Given the description of an element on the screen output the (x, y) to click on. 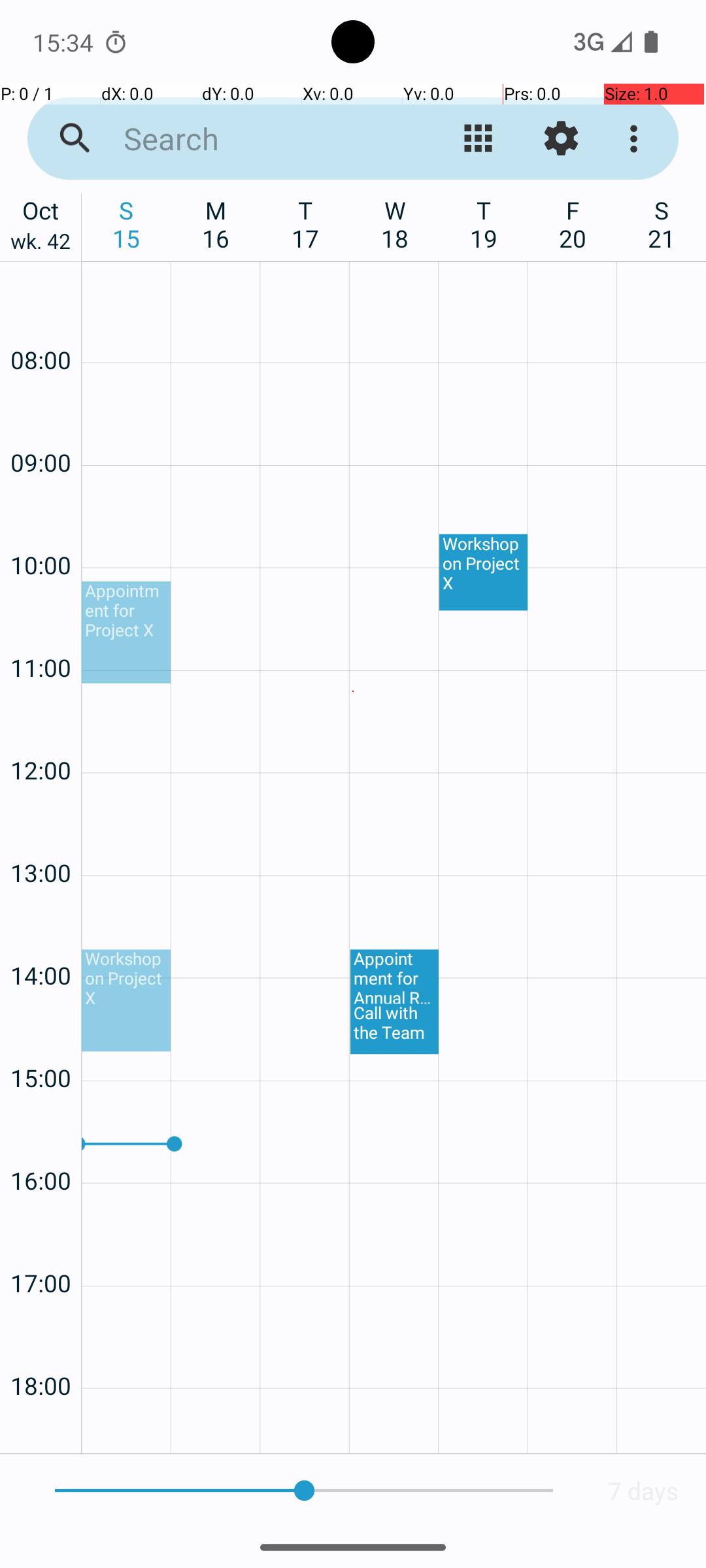
wk. 42 Element type: android.widget.TextView (40, 243)
M
16 Element type: android.widget.TextView (215, 223)
T
17 Element type: android.widget.TextView (305, 223)
W
18 Element type: android.widget.TextView (394, 223)
T
19 Element type: android.widget.TextView (483, 223)
F
20 Element type: android.widget.TextView (572, 223)
S
21 Element type: android.widget.TextView (661, 223)
